Given the description of an element on the screen output the (x, y) to click on. 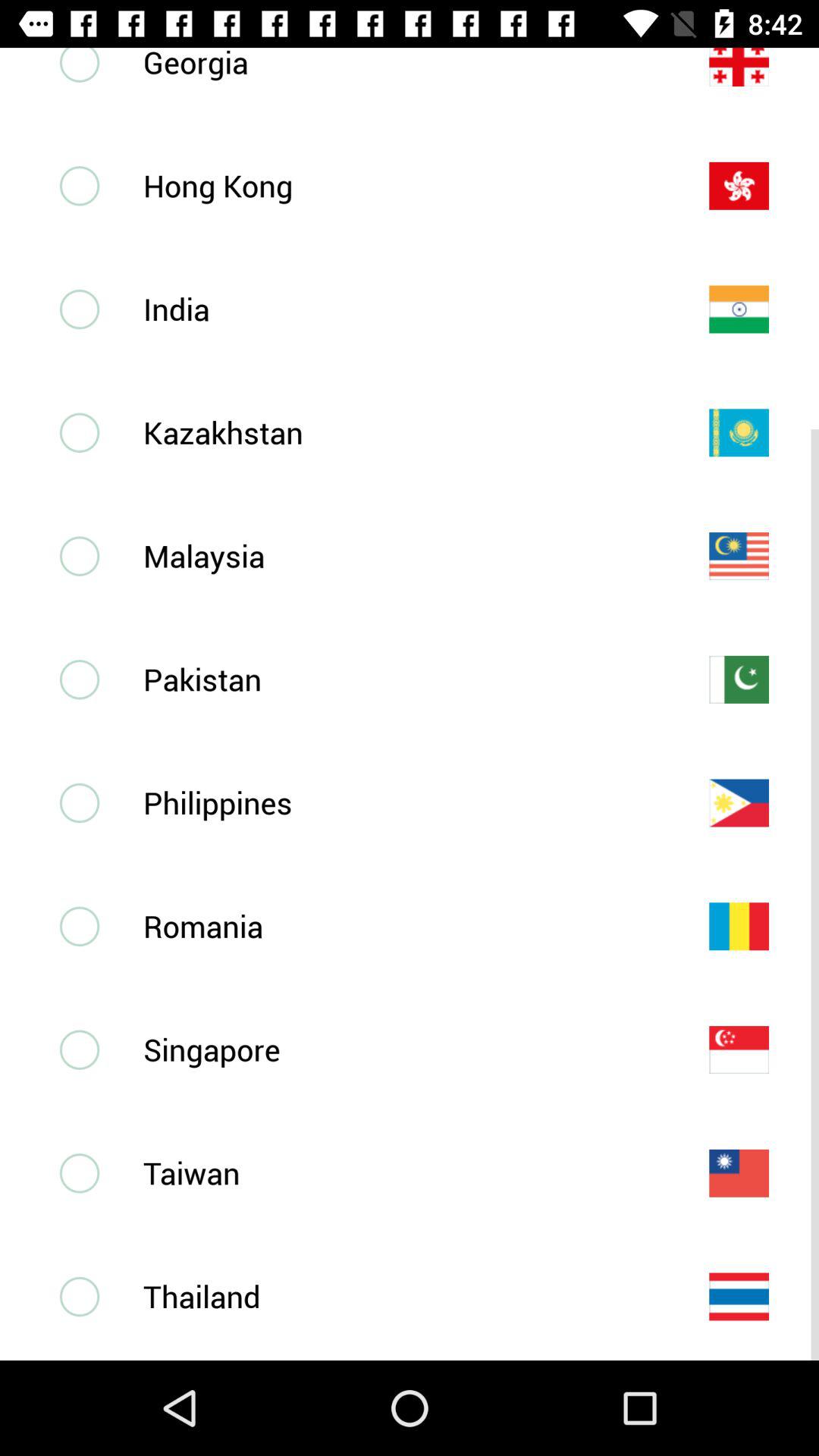
select the thailand item (401, 1296)
